Given the description of an element on the screen output the (x, y) to click on. 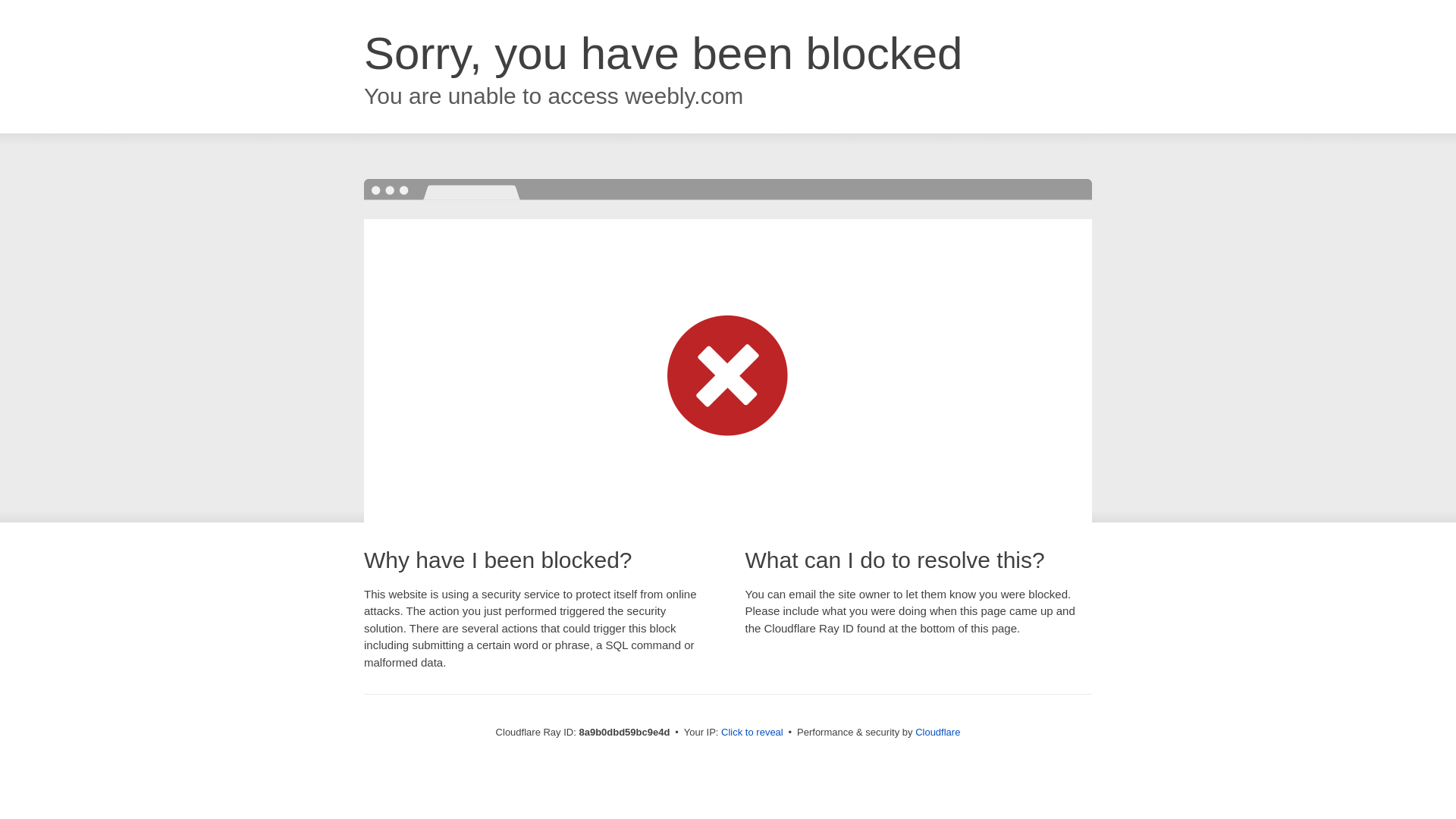
Cloudflare (937, 731)
Click to reveal (751, 732)
